Given the description of an element on the screen output the (x, y) to click on. 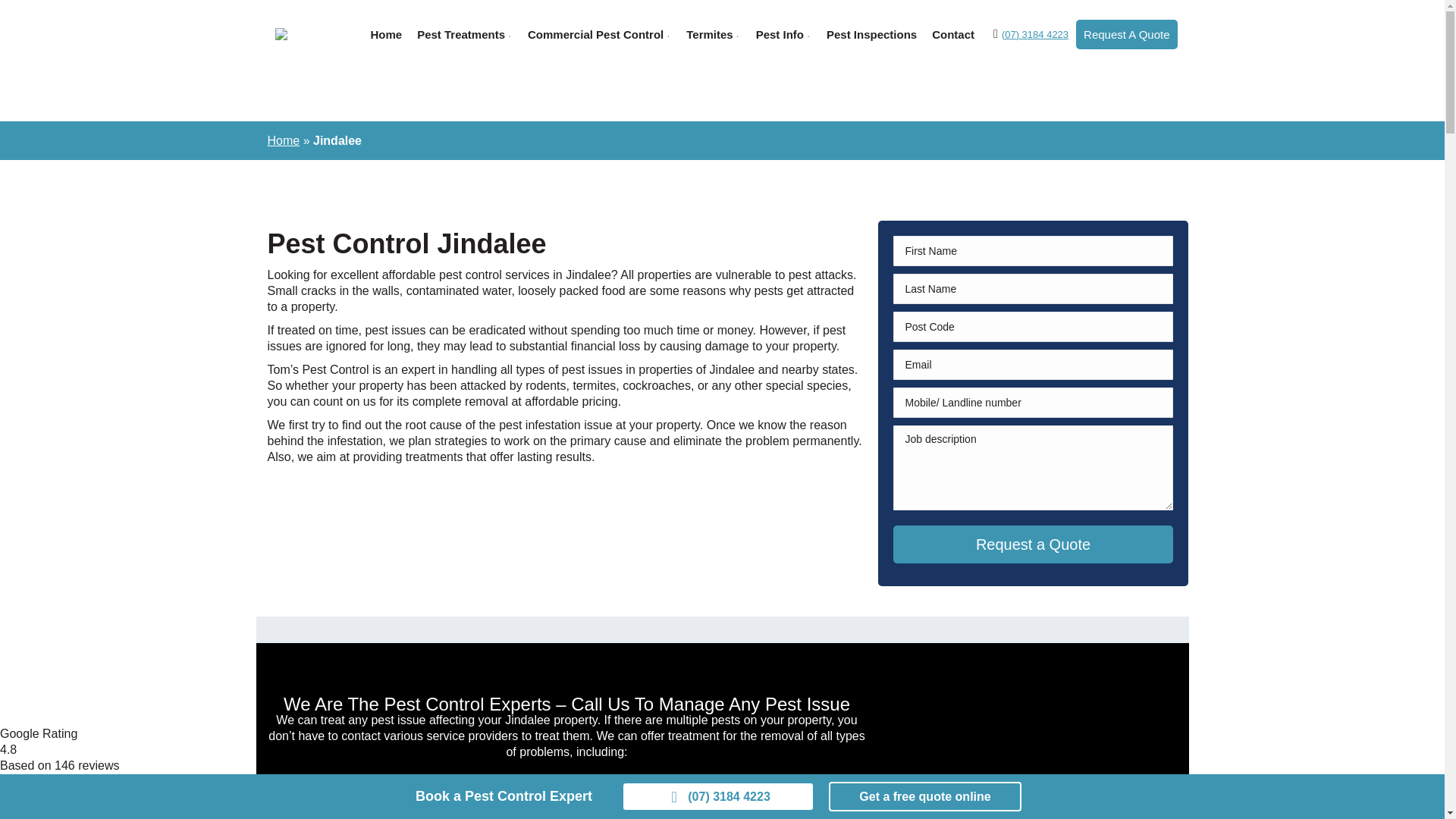
Book Online (925, 796)
call (718, 796)
Pest Treatments (464, 34)
Commercial Pest Control (599, 34)
Home (385, 34)
Termites (712, 34)
Request a Quote (1033, 544)
